Given the description of an element on the screen output the (x, y) to click on. 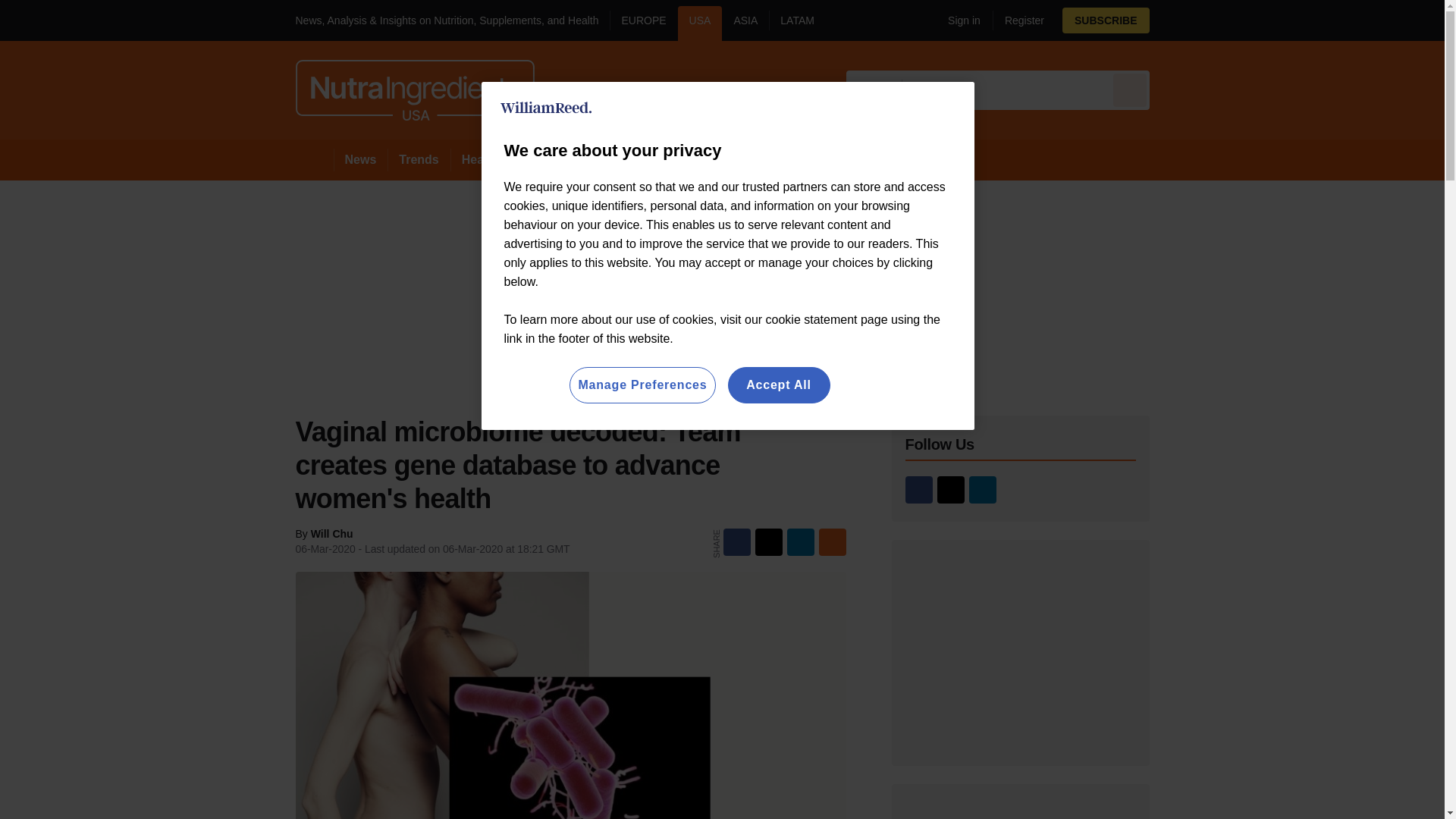
William Reed (545, 107)
Home (314, 159)
Register (1017, 20)
Send (1129, 89)
3rd party ad content (1020, 810)
3rd party ad content (1020, 652)
SUBSCRIBE (1105, 20)
LATAM (796, 22)
USA (700, 22)
Home (313, 159)
Sign out (961, 20)
News (360, 159)
Trends (418, 159)
EUROPE (643, 22)
